Given the description of an element on the screen output the (x, y) to click on. 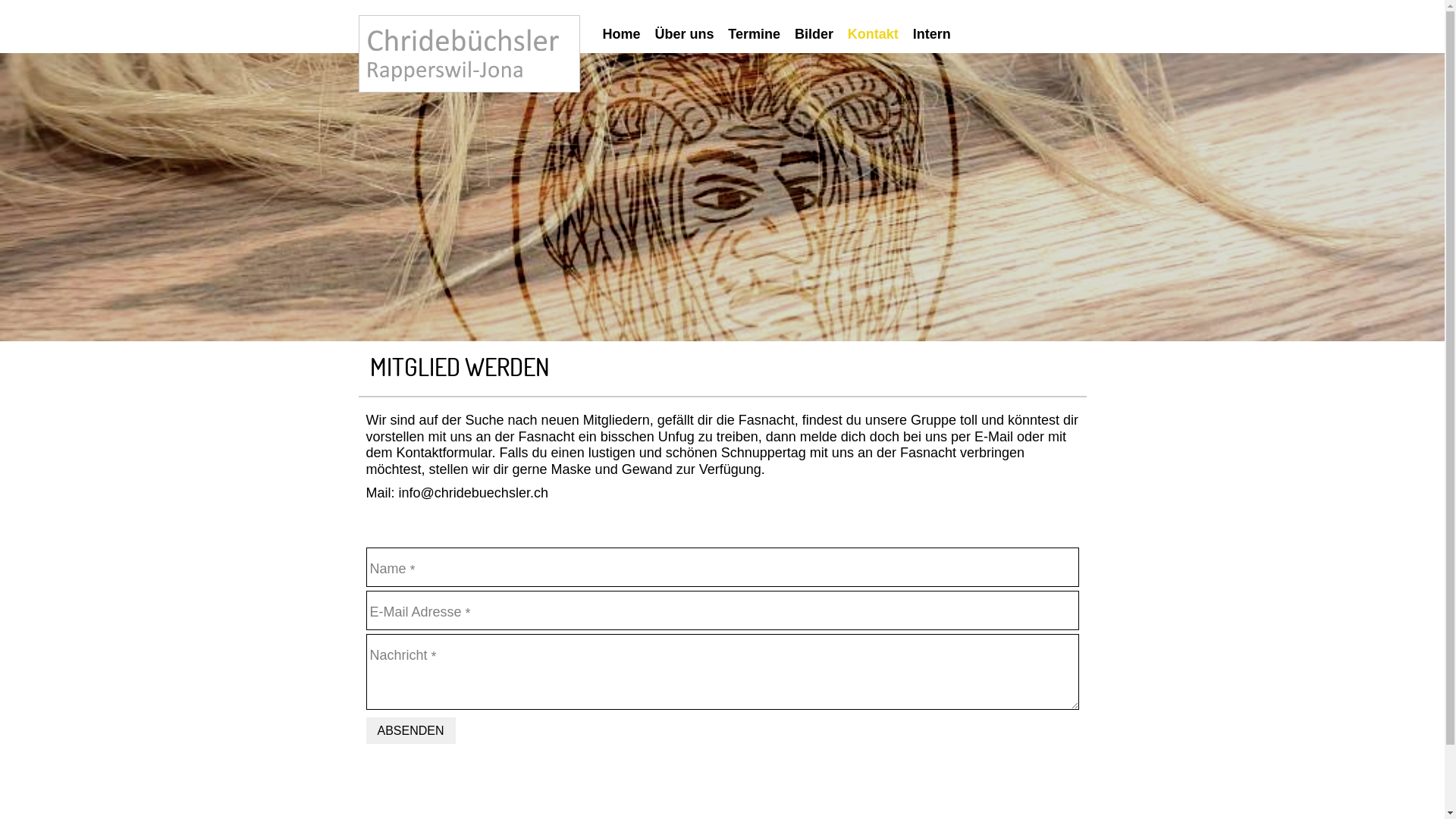
Home Element type: text (626, 33)
Kontakt Element type: text (878, 33)
ABSENDEN Element type: text (410, 730)
Bilder Element type: text (819, 33)
info@chridebuechsler.ch Element type: text (473, 492)
Termine Element type: text (759, 33)
Intern Element type: text (937, 33)
